Given the description of an element on the screen output the (x, y) to click on. 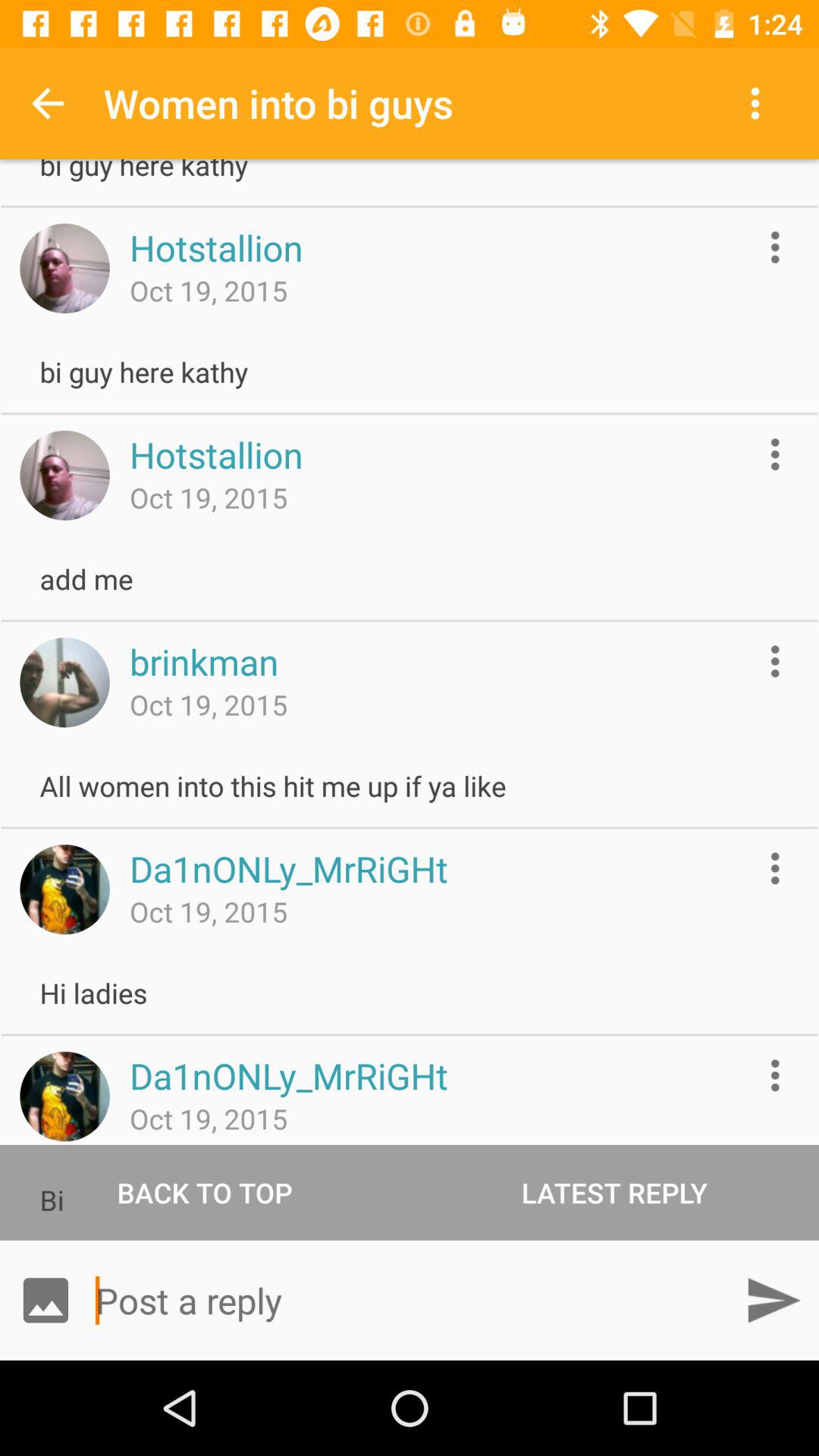
open the icon to the left of the women into bi item (47, 103)
